Given the description of an element on the screen output the (x, y) to click on. 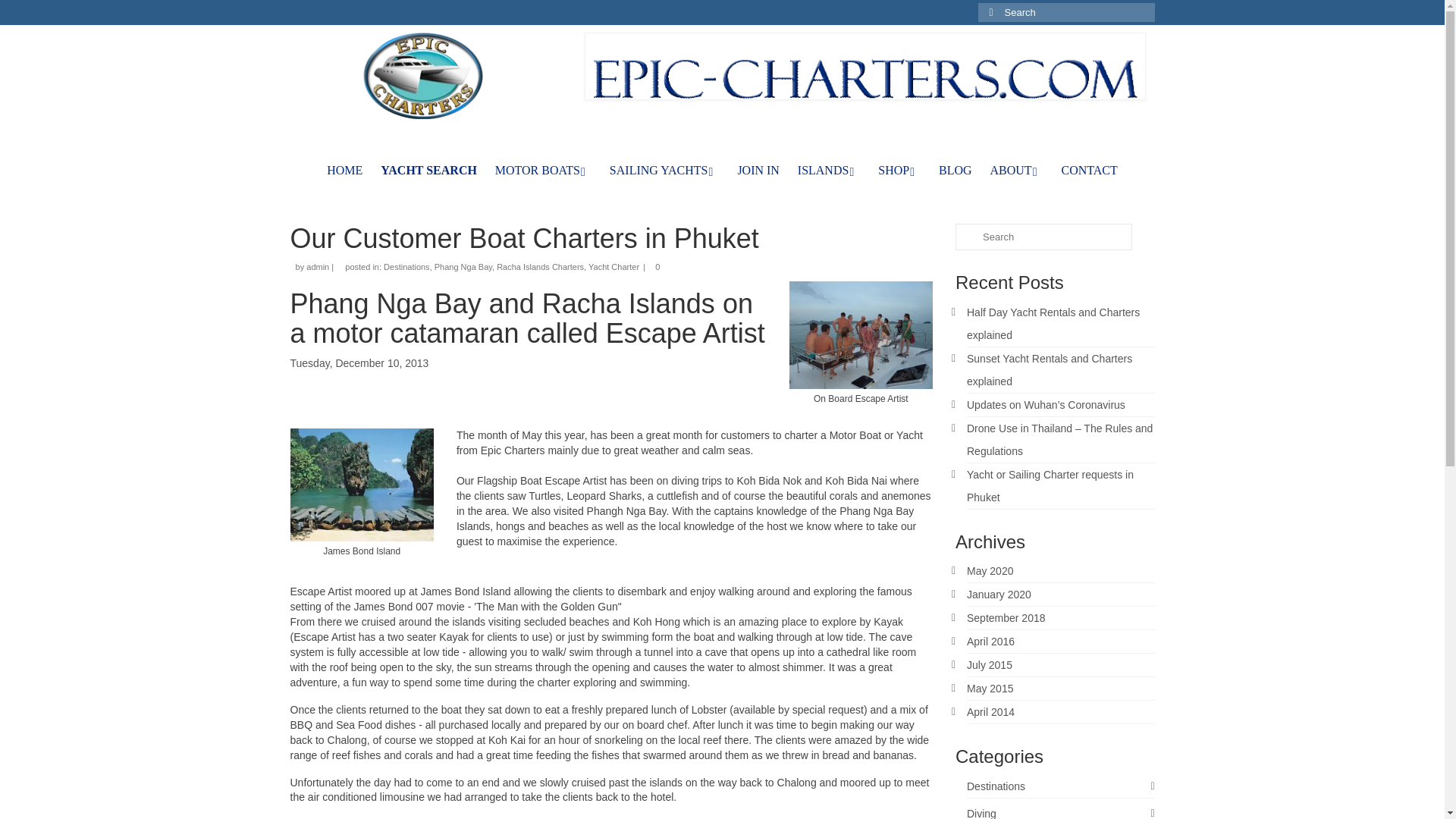
JOIN IN (758, 170)
SAILING YACHTS (664, 170)
HOME (343, 170)
CONTACT (1089, 170)
admin (317, 266)
ISLANDS (828, 170)
MOTOR BOATS (542, 170)
BLOG (955, 170)
epic charters (424, 75)
ABOUT (1016, 170)
